Given the description of an element on the screen output the (x, y) to click on. 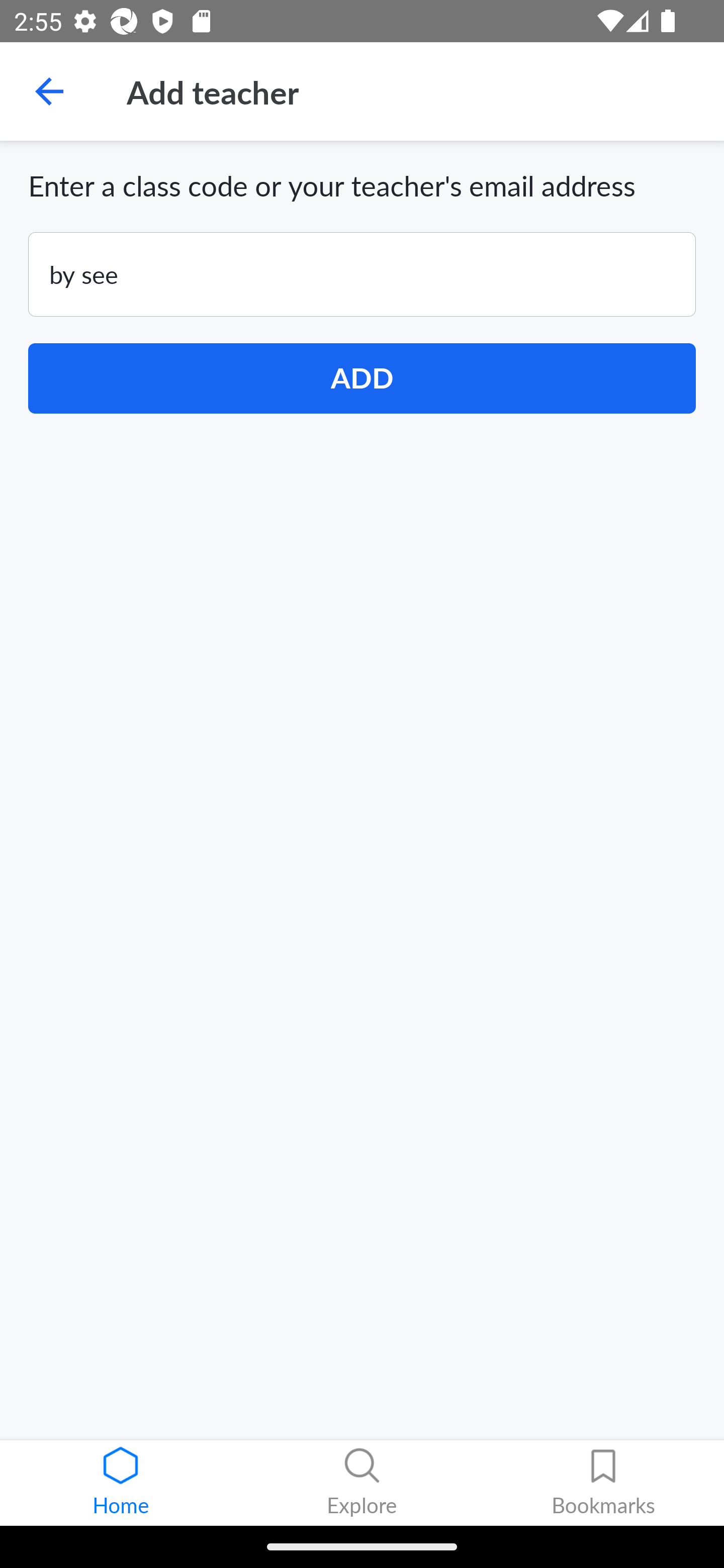
Navigate up (49, 91)
by see e.g. ABC123 or teacher@example.com (361, 274)
ADD (361, 378)
Home (120, 1482)
Explore (361, 1482)
Bookmarks (603, 1482)
